Given the description of an element on the screen output the (x, y) to click on. 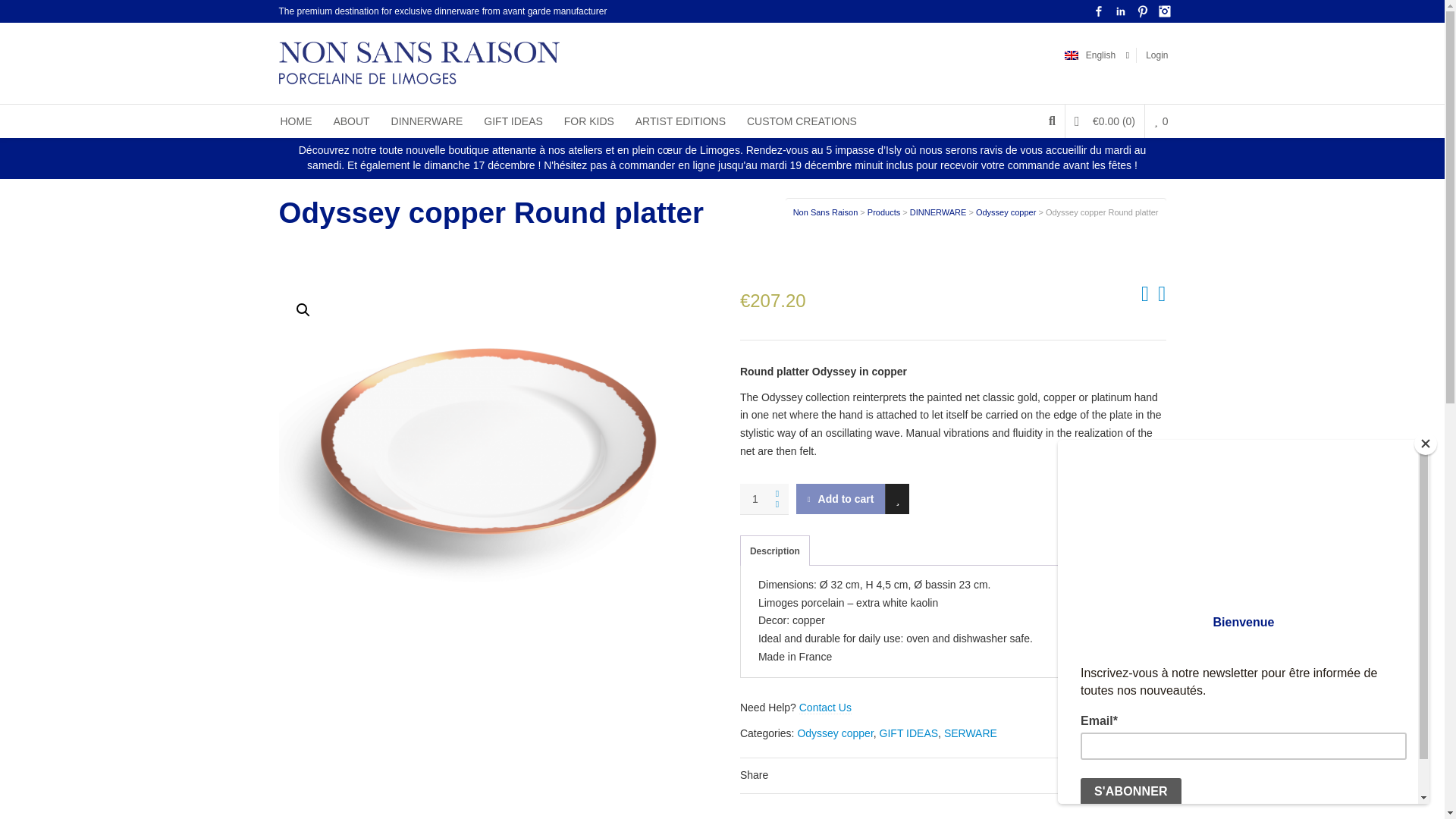
View your shopping bag (1104, 121)
0 (1160, 121)
View your wishlist (1160, 121)
DINNERWARE (938, 212)
Pinterest (1141, 11)
English (1094, 55)
Facebook (1097, 11)
ABOUT (350, 121)
HOME (295, 121)
Instagram (1164, 11)
Login (1156, 55)
Go to Non Sans Raison. (826, 212)
ARTIST EDITIONS (680, 121)
Non Sans Raison (826, 212)
LinkedIn (1120, 11)
